Given the description of an element on the screen output the (x, y) to click on. 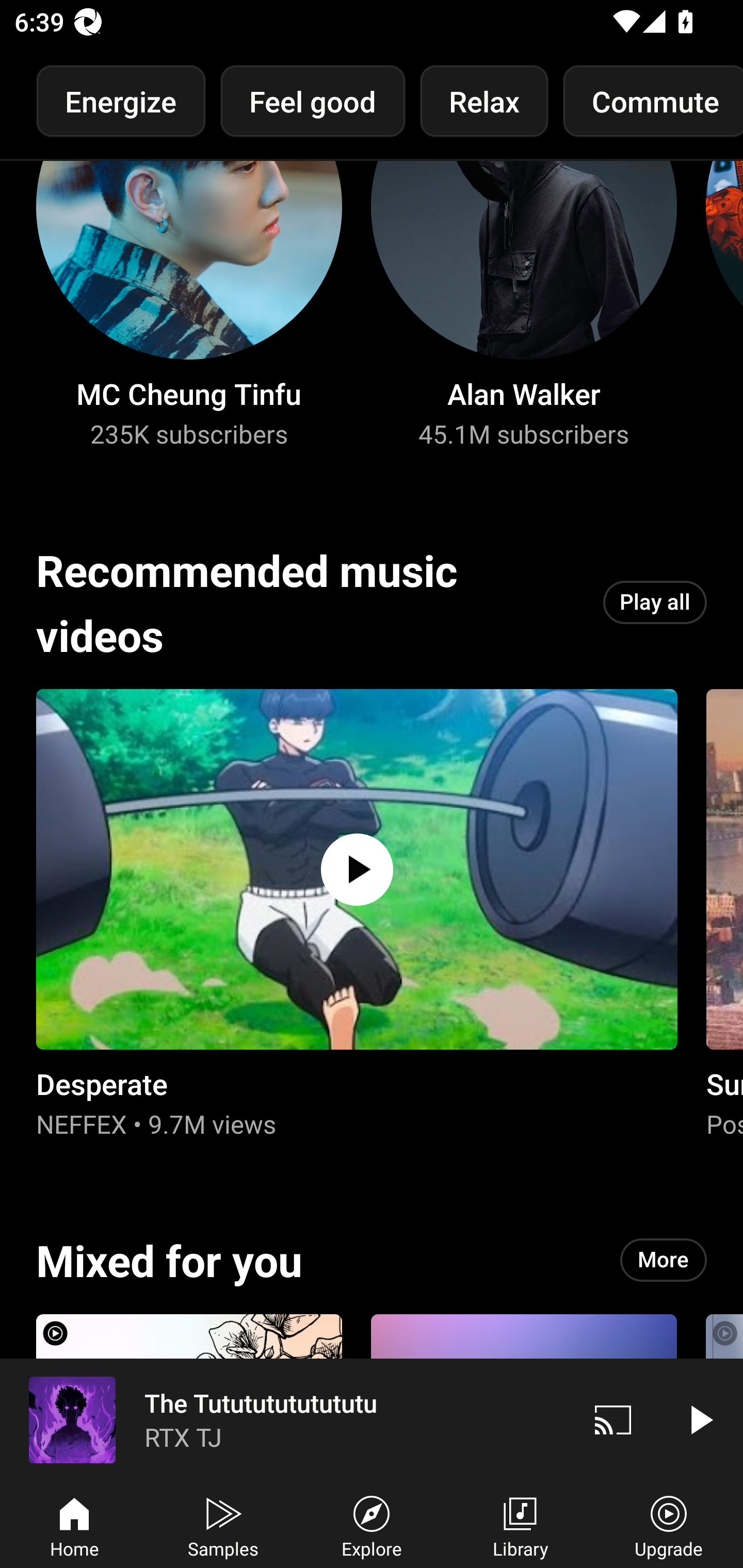
The Tutututututututu RTX TJ (284, 1419)
Cast. Disconnected (612, 1419)
Play video (699, 1419)
Home (74, 1524)
Samples (222, 1524)
Explore (371, 1524)
Library (519, 1524)
Upgrade (668, 1524)
